Given the description of an element on the screen output the (x, y) to click on. 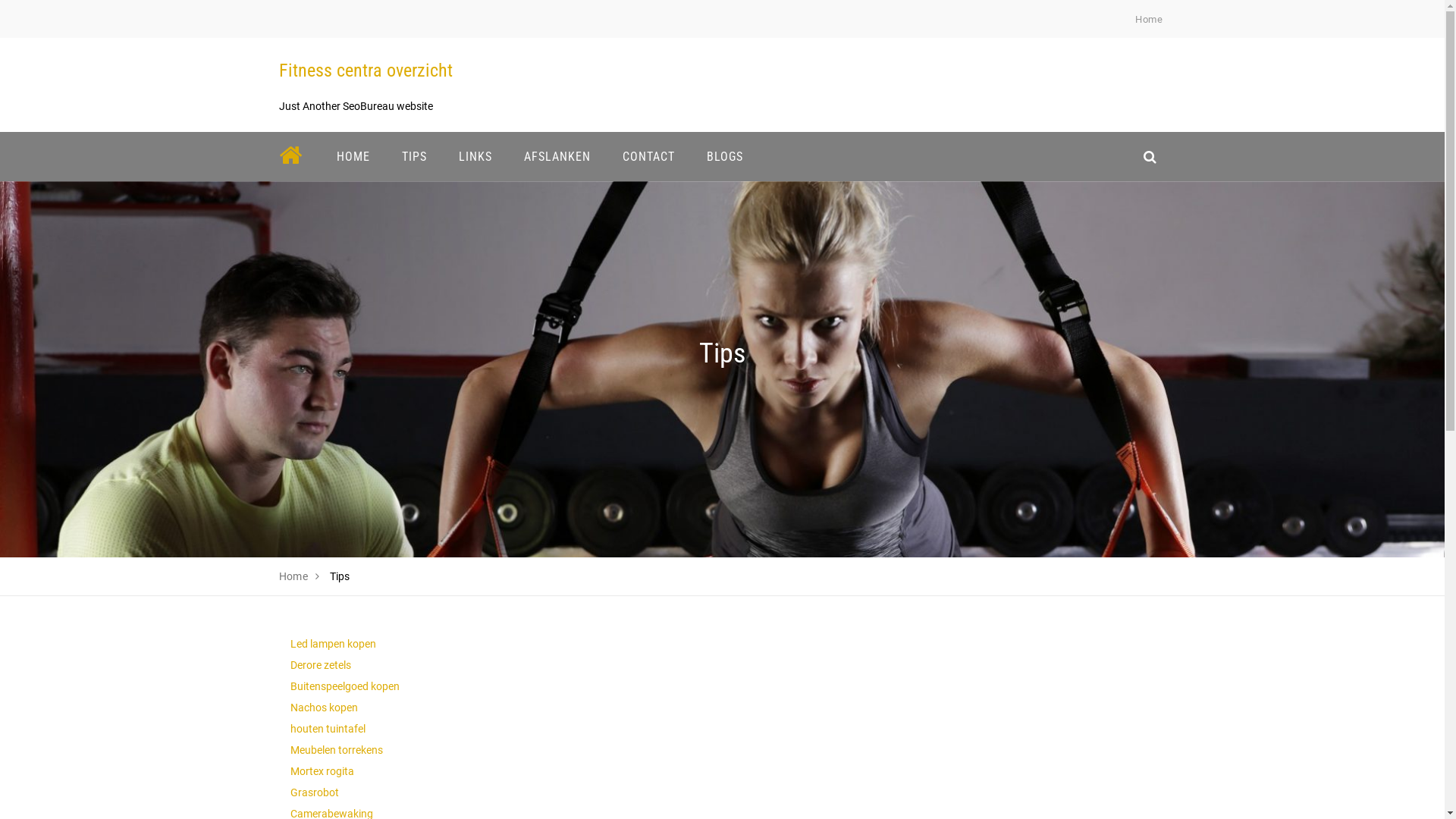
search_icon Element type: hover (1148, 156)
Fitness centra overzicht Element type: text (365, 70)
houten tuintafel Element type: text (326, 728)
Mortex rogita Element type: text (321, 771)
BLOGS Element type: text (724, 156)
AFSLANKEN Element type: text (557, 156)
Home Element type: text (1148, 19)
Nachos kopen Element type: text (323, 707)
Buitenspeelgoed kopen Element type: text (343, 686)
Derore zetels Element type: text (319, 664)
CONTACT Element type: text (648, 156)
Home Element type: text (293, 576)
LINKS Element type: text (475, 156)
Meubelen torrekens Element type: text (335, 749)
TIPS Element type: text (413, 156)
Led lampen kopen Element type: text (332, 643)
Grasrobot Element type: text (313, 792)
HOME Element type: text (352, 156)
